Given the description of an element on the screen output the (x, y) to click on. 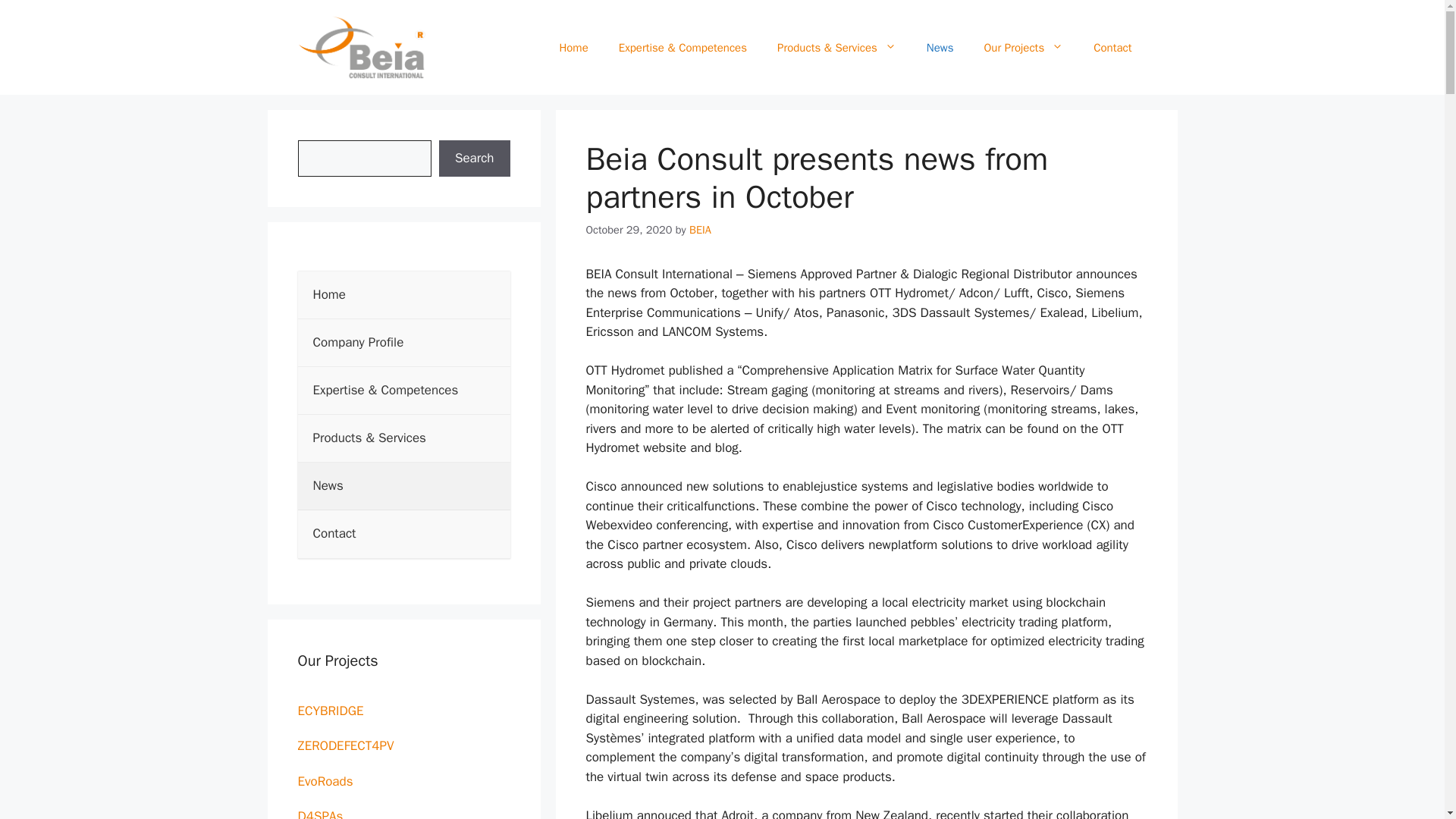
Home (572, 46)
Our Projects (1023, 46)
Search (475, 158)
Home (403, 295)
Company Profile (403, 342)
D4SPAs (403, 812)
Contact (1112, 46)
View all posts by BEIA (699, 229)
News (940, 46)
News (403, 486)
